Given the description of an element on the screen output the (x, y) to click on. 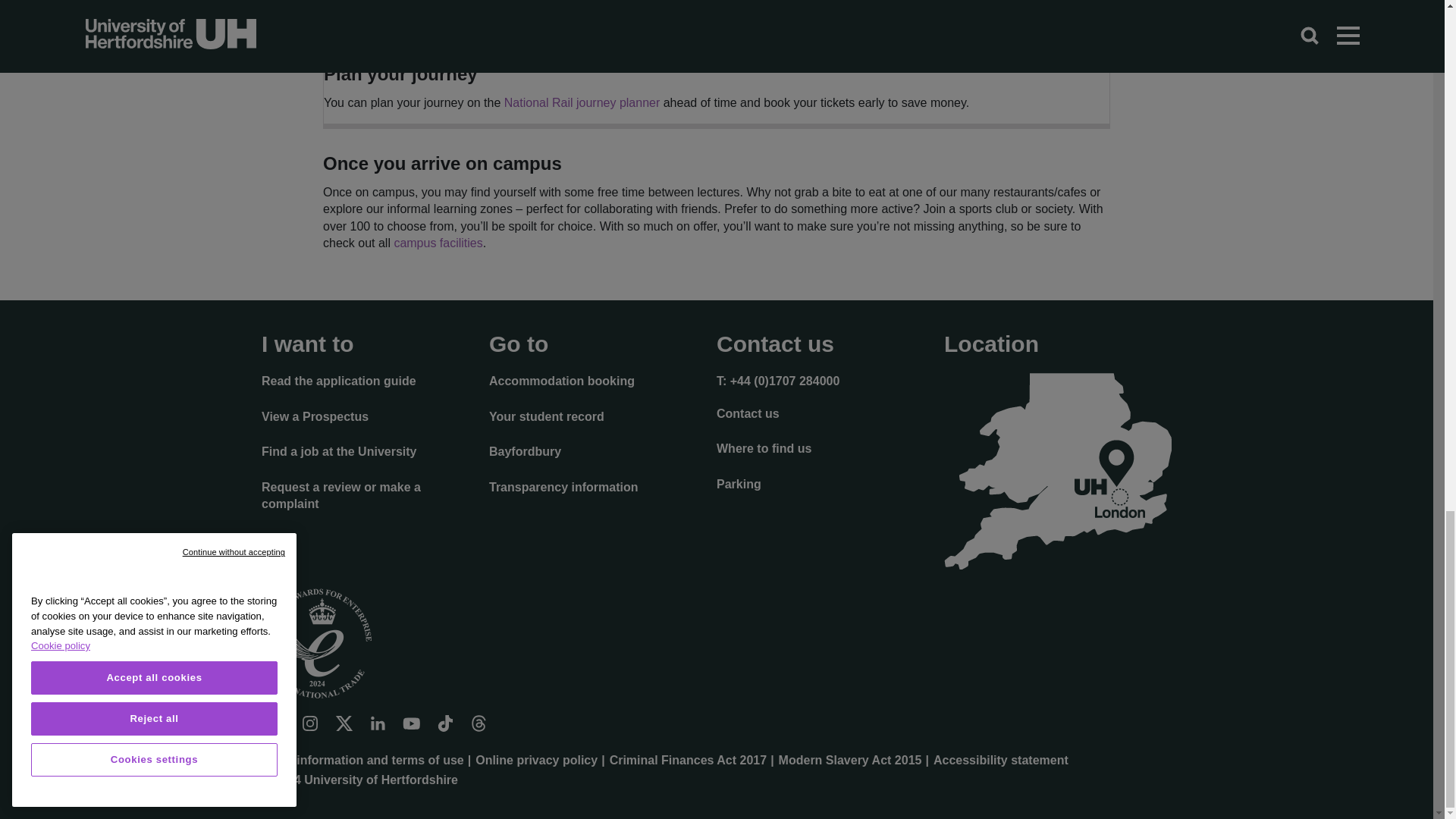
National Rail Journey Planner (581, 102)
Campus facilities (437, 242)
National Rail journey planner (581, 102)
